Given the description of an element on the screen output the (x, y) to click on. 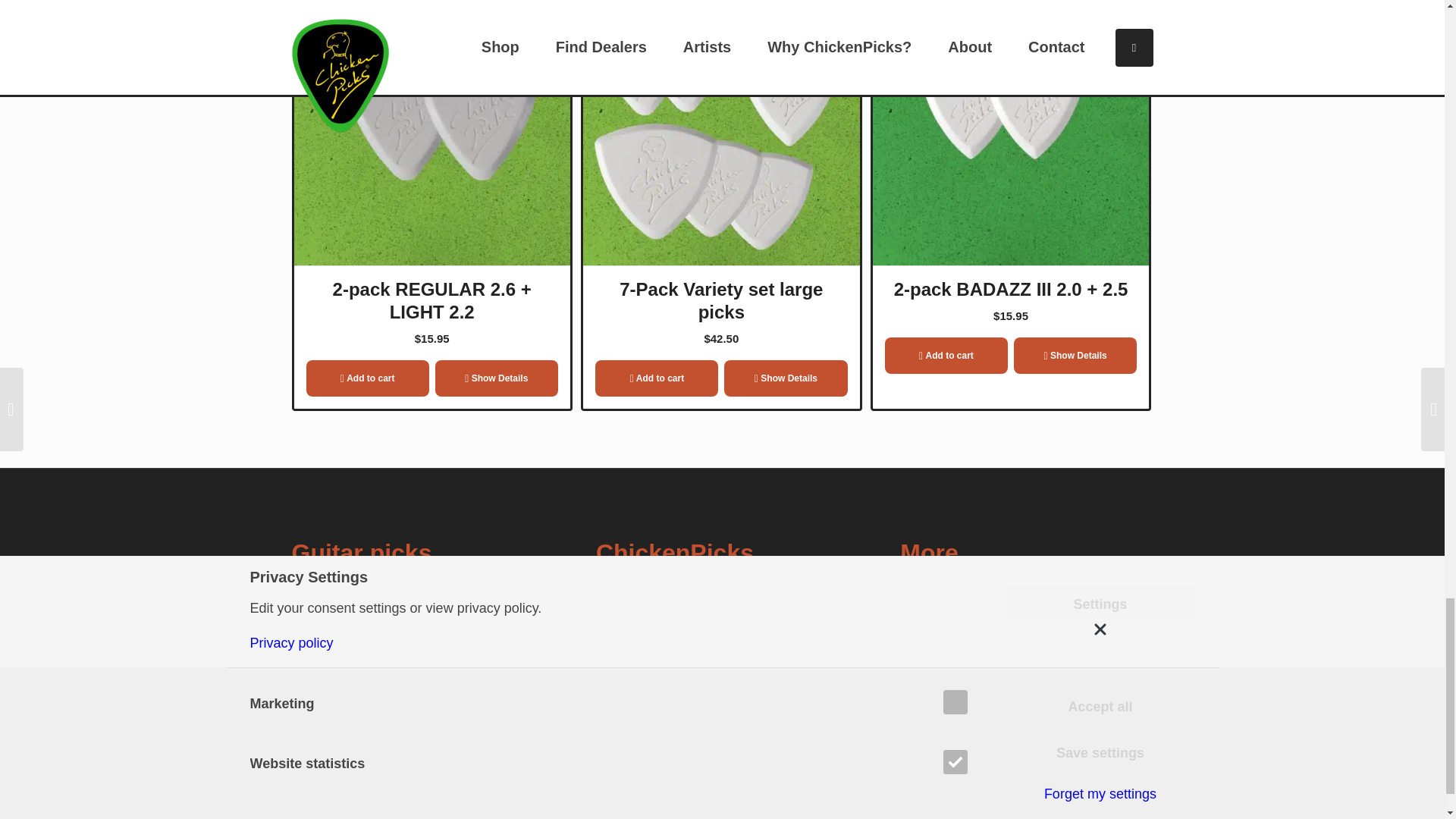
Facebook (1091, 816)
